Given the description of an element on the screen output the (x, y) to click on. 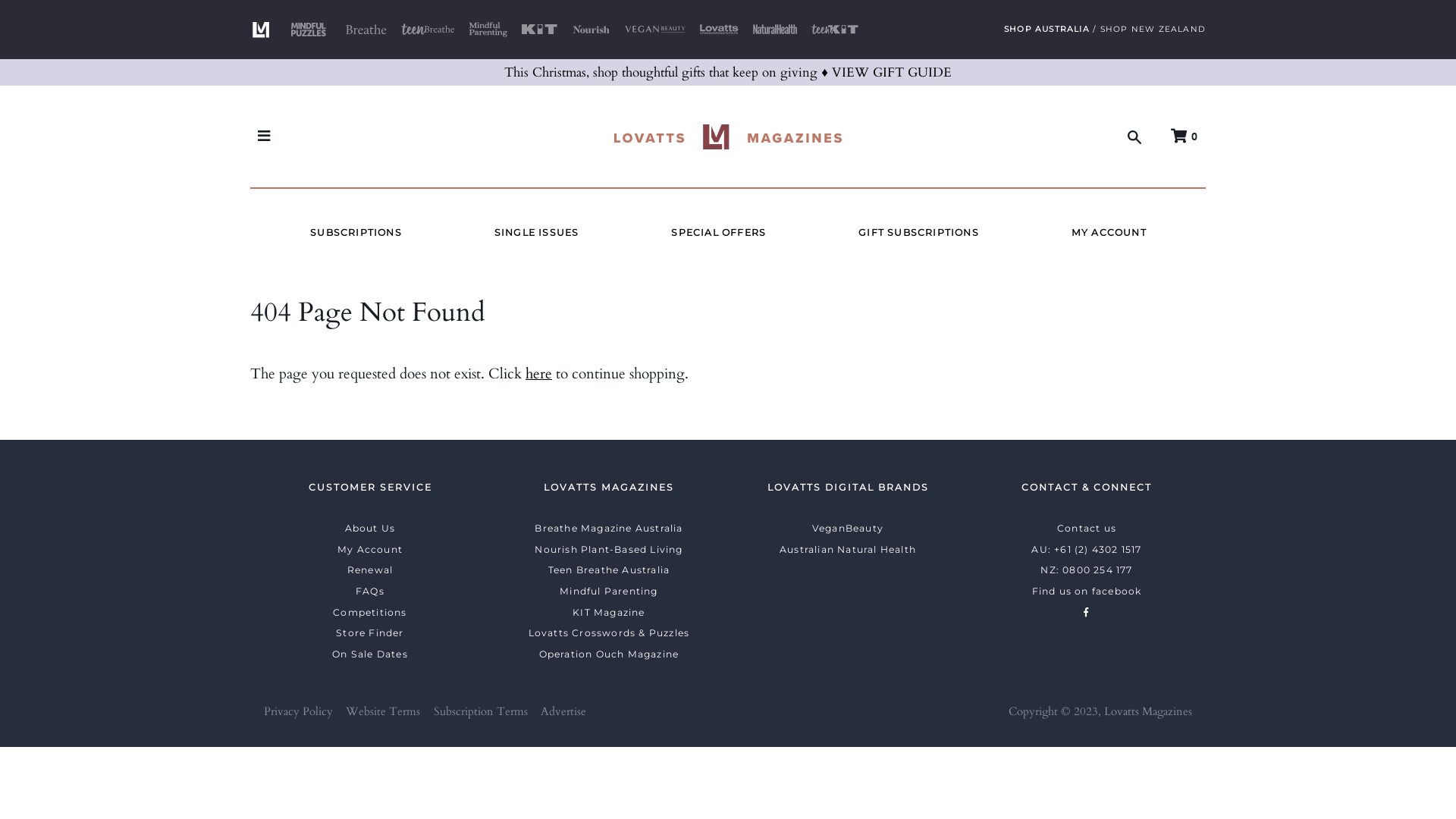
Contact us Element type: text (1086, 527)
NZ: 0800 254 177 Element type: text (1086, 569)
Lovatts Magazines Element type: text (1148, 711)
Mindful Parenting Element type: text (608, 590)
Competitions Element type: text (369, 612)
On Sale Dates Element type: text (369, 653)
About Us Element type: text (370, 527)
Operation Ouch Magazine Element type: text (609, 653)
KIT Magazine Element type: text (608, 612)
Australian Natural Health Element type: text (847, 549)
Breathe Magazine Australia Element type: text (608, 527)
SEARCH Element type: text (1134, 136)
VeganBeauty Element type: text (847, 527)
Lovatts Crosswords & Puzzles Element type: text (609, 632)
GIFT SUBSCRIPTIONS Element type: text (918, 232)
MY ACCOUNT Element type: text (1108, 232)
Website Terms Element type: text (382, 711)
My Account Element type: text (369, 549)
SINGLE ISSUES Element type: text (536, 232)
breathe Element type: text (365, 29)
SPECIAL OFFERS Element type: text (718, 232)
ANH Element type: text (775, 29)
LCP Element type: text (718, 29)
0 Element type: text (1184, 136)
VIEW GIFT GUIDE Element type: text (891, 72)
Teen Breathe Australia Element type: text (608, 569)
Subscription Terms Element type: text (480, 711)
here Element type: text (538, 373)
kit Element type: text (539, 29)
Renewal Element type: text (369, 569)
Advertise Element type: text (563, 711)
Privacy Policy Element type: text (297, 711)
AU: +61 (2) 4302 1517 Element type: text (1086, 549)
teenbreathe Element type: text (427, 30)
Find us on facebook Element type: text (1087, 590)
Nourish Plant-Based Living Element type: text (608, 549)
Store Finder Element type: text (369, 632)
FAQs Element type: text (369, 590)
SUBSCRIPTIONS Element type: text (355, 232)
